Given the description of an element on the screen output the (x, y) to click on. 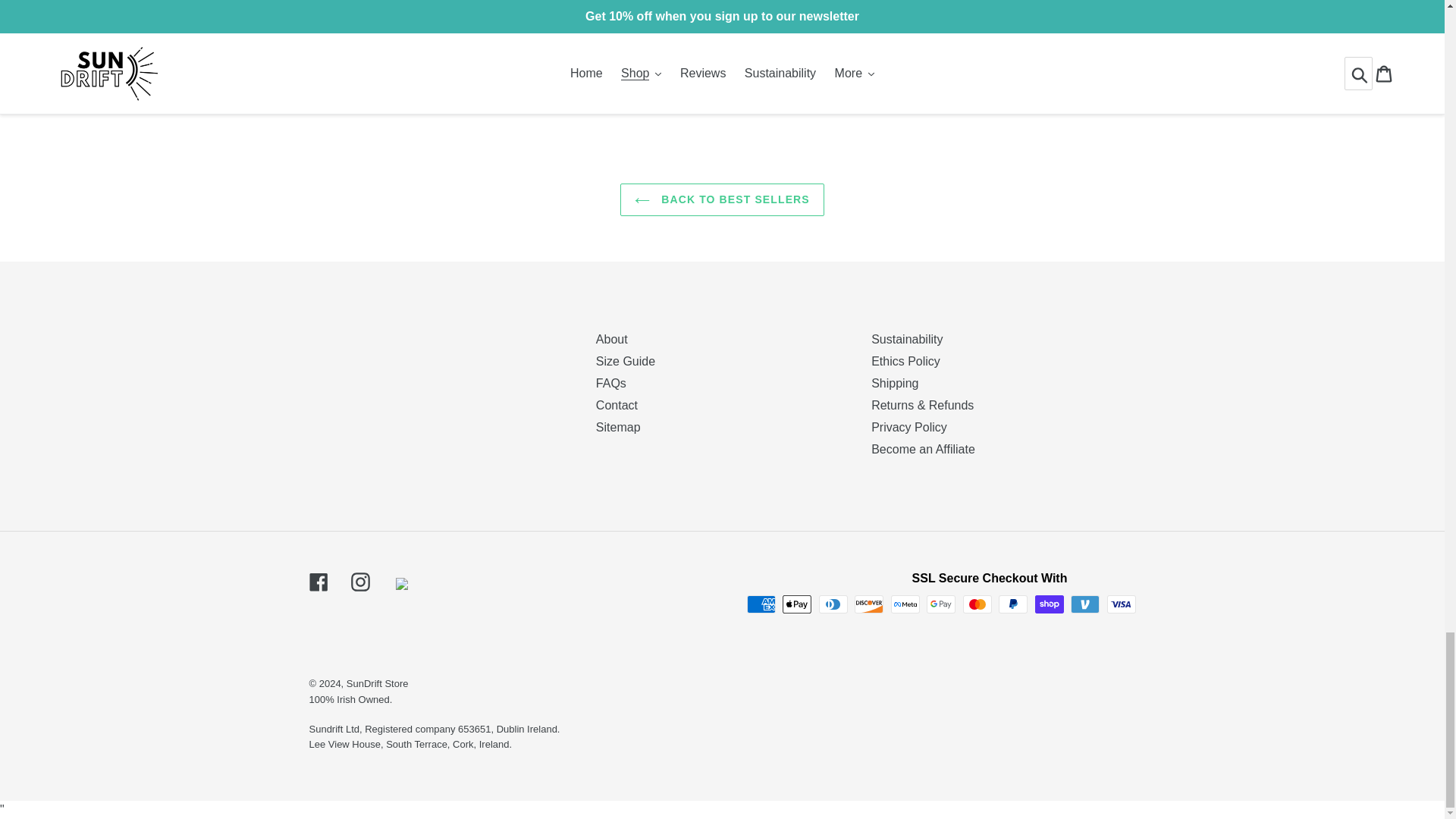
Visa (1120, 604)
Discover (868, 604)
Google Pay (940, 604)
Diners Club (832, 604)
Shop Pay (1049, 604)
American Express (761, 604)
Add to cart (799, 68)
Mastercard (976, 604)
Add to cart (386, 68)
Venmo (1084, 604)
Add to cart (592, 68)
Meta Pay (905, 604)
PayPal (1012, 604)
Apple Pay (796, 604)
